Given the description of an element on the screen output the (x, y) to click on. 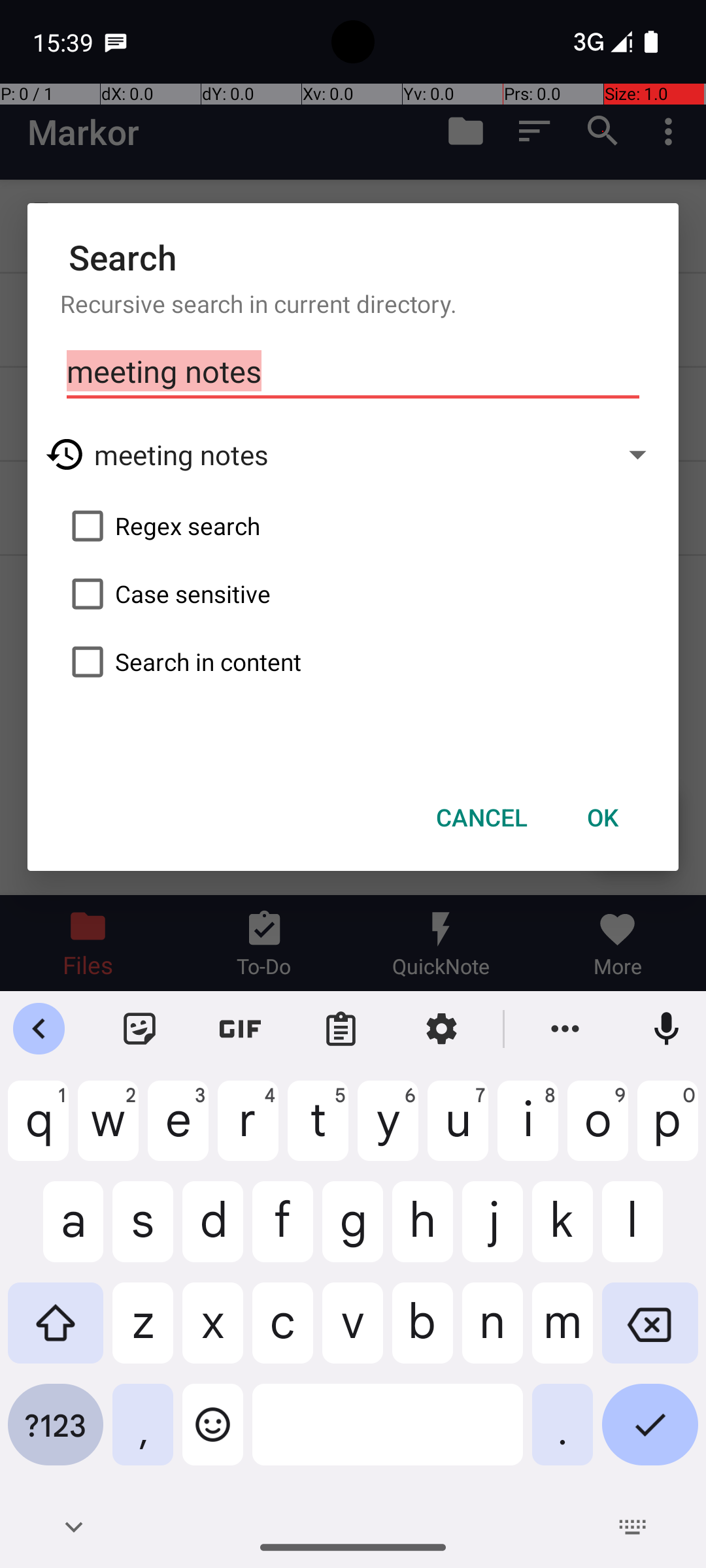
Recursive search in current directory. Element type: android.widget.TextView (352, 303)
meeting notes Element type: android.widget.EditText (352, 371)
Regex search Element type: android.widget.CheckBox (352, 525)
Case sensitive Element type: android.widget.CheckBox (352, 593)
Search in content Element type: android.widget.CheckBox (352, 661)
15:39 Element type: android.widget.TextView (64, 41)
